Given the description of an element on the screen output the (x, y) to click on. 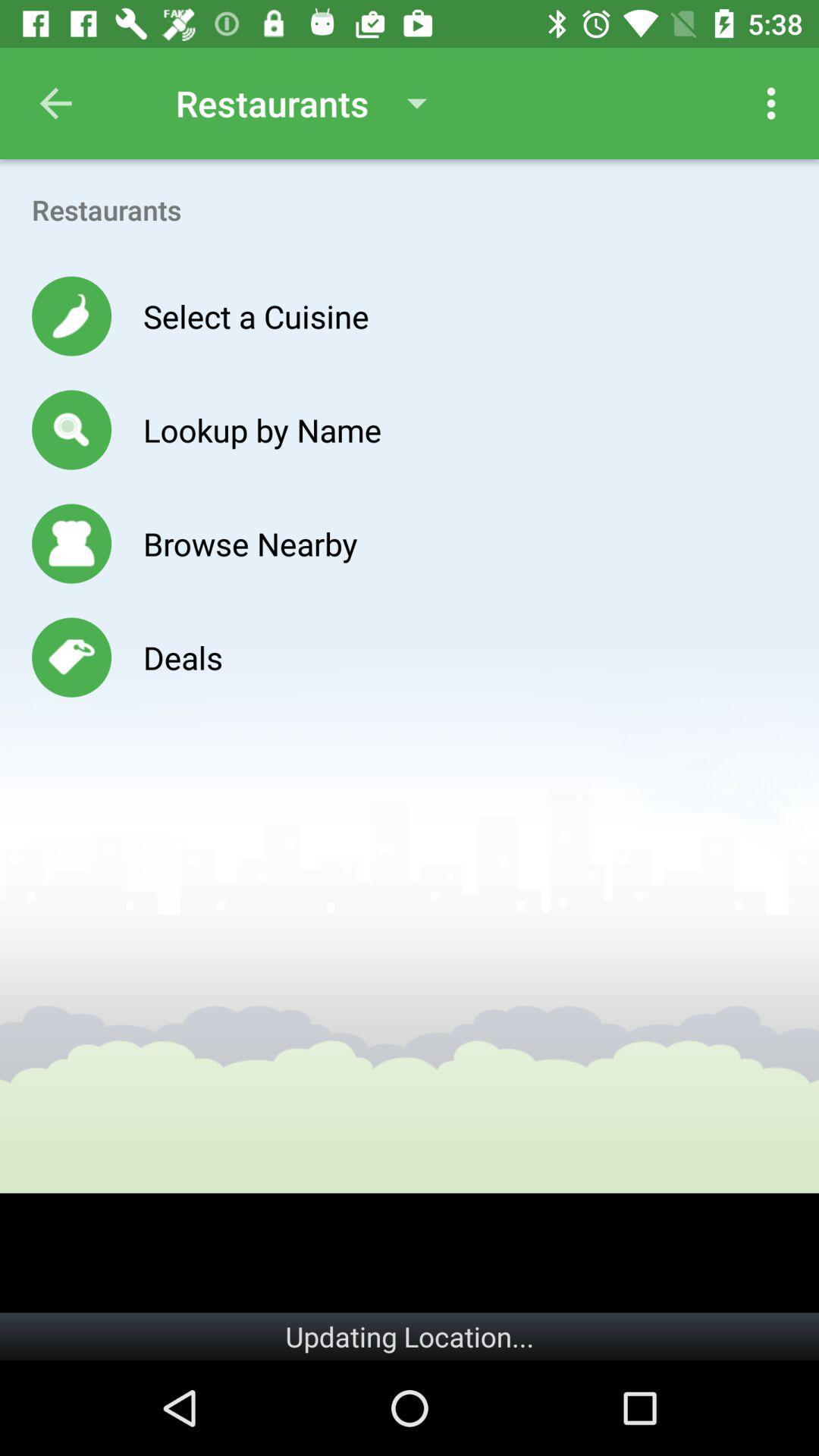
launch the deals icon (182, 657)
